Given the description of an element on the screen output the (x, y) to click on. 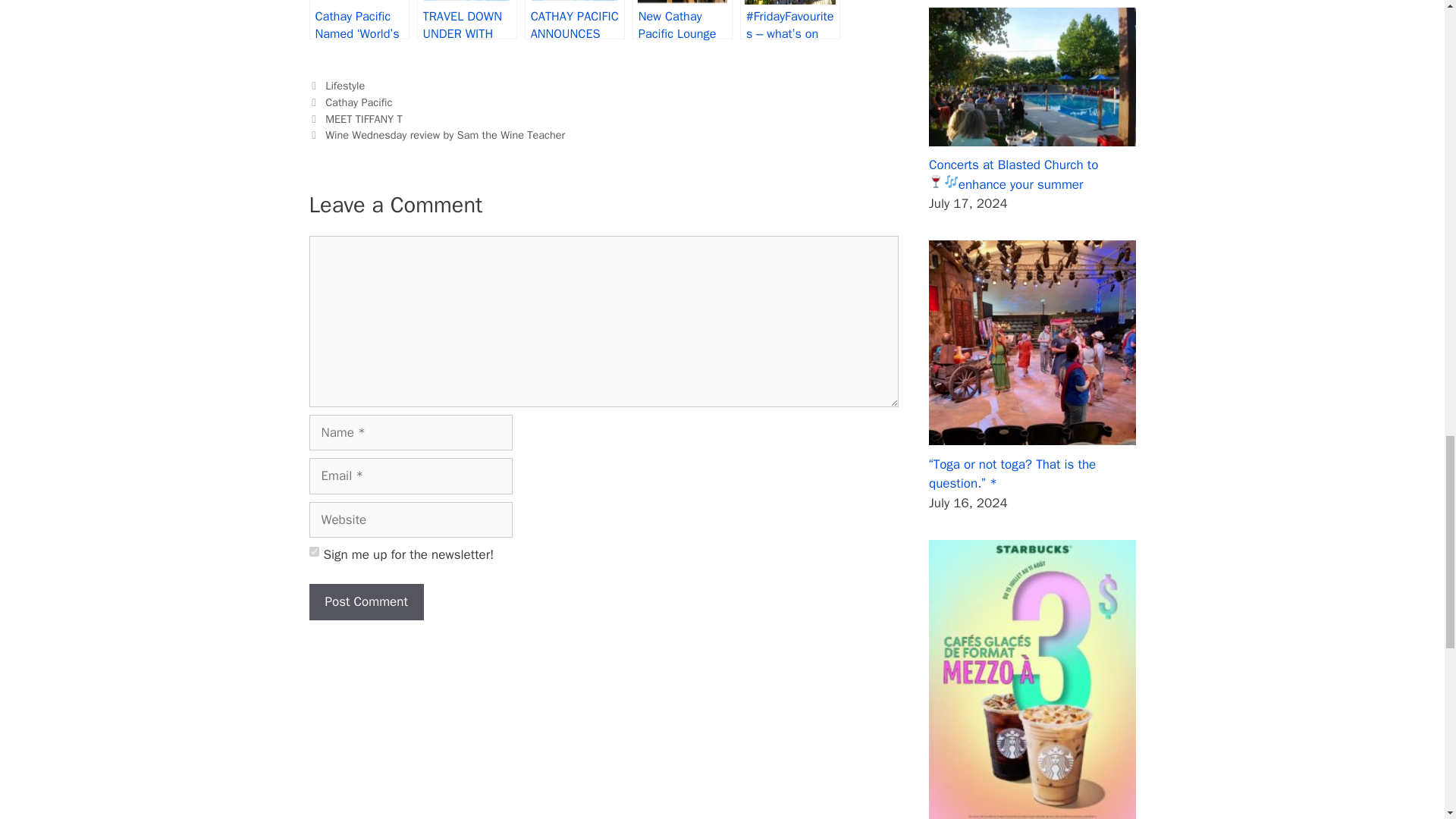
TRAVEL DOWN UNDER WITH CATHAY PACIFIC AIRWAYS  (466, 19)
MEET TIFFANY T  (365, 119)
CATHAY PACIFIC ANNOUNCES SEAT SALE (574, 19)
Post Comment (365, 601)
Lifestyle (344, 85)
Wine Wednesday review by Sam the Wine Teacher (444, 134)
Concerts at Blasted Church to enhance your summer (1012, 174)
Cathay Pacific (357, 101)
Post Comment (365, 601)
1 (313, 551)
CATHAY PACIFIC ANNOUNCES SEAT SALE (574, 19)
